Given the description of an element on the screen output the (x, y) to click on. 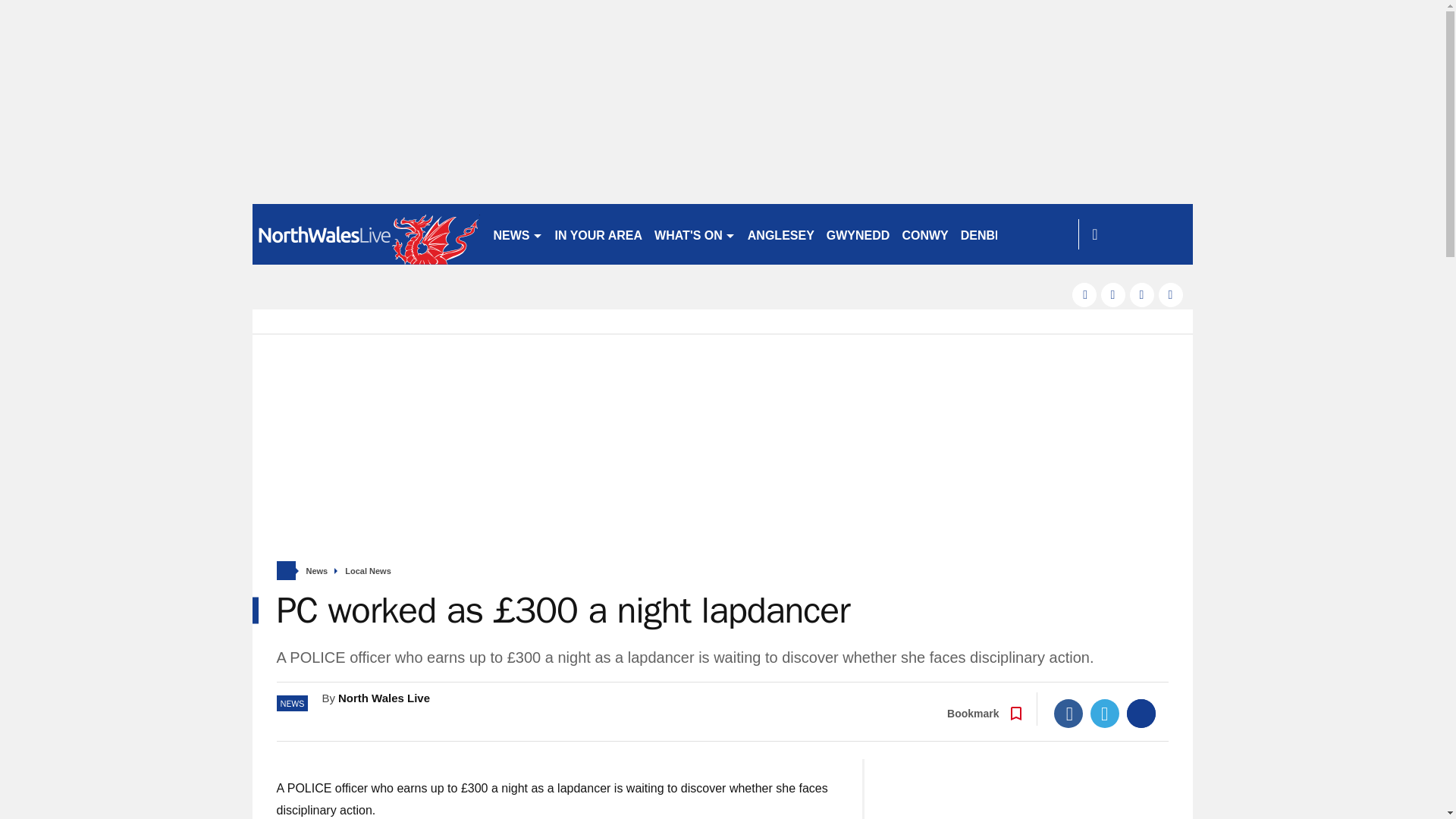
IN YOUR AREA (598, 233)
Facebook (1068, 713)
NEWS (517, 233)
northwales (365, 233)
DENBIGHSHIRE (1007, 233)
instagram (1170, 294)
WHAT'S ON (694, 233)
pinterest (1141, 294)
twitter (1112, 294)
facebook (1083, 294)
